Given the description of an element on the screen output the (x, y) to click on. 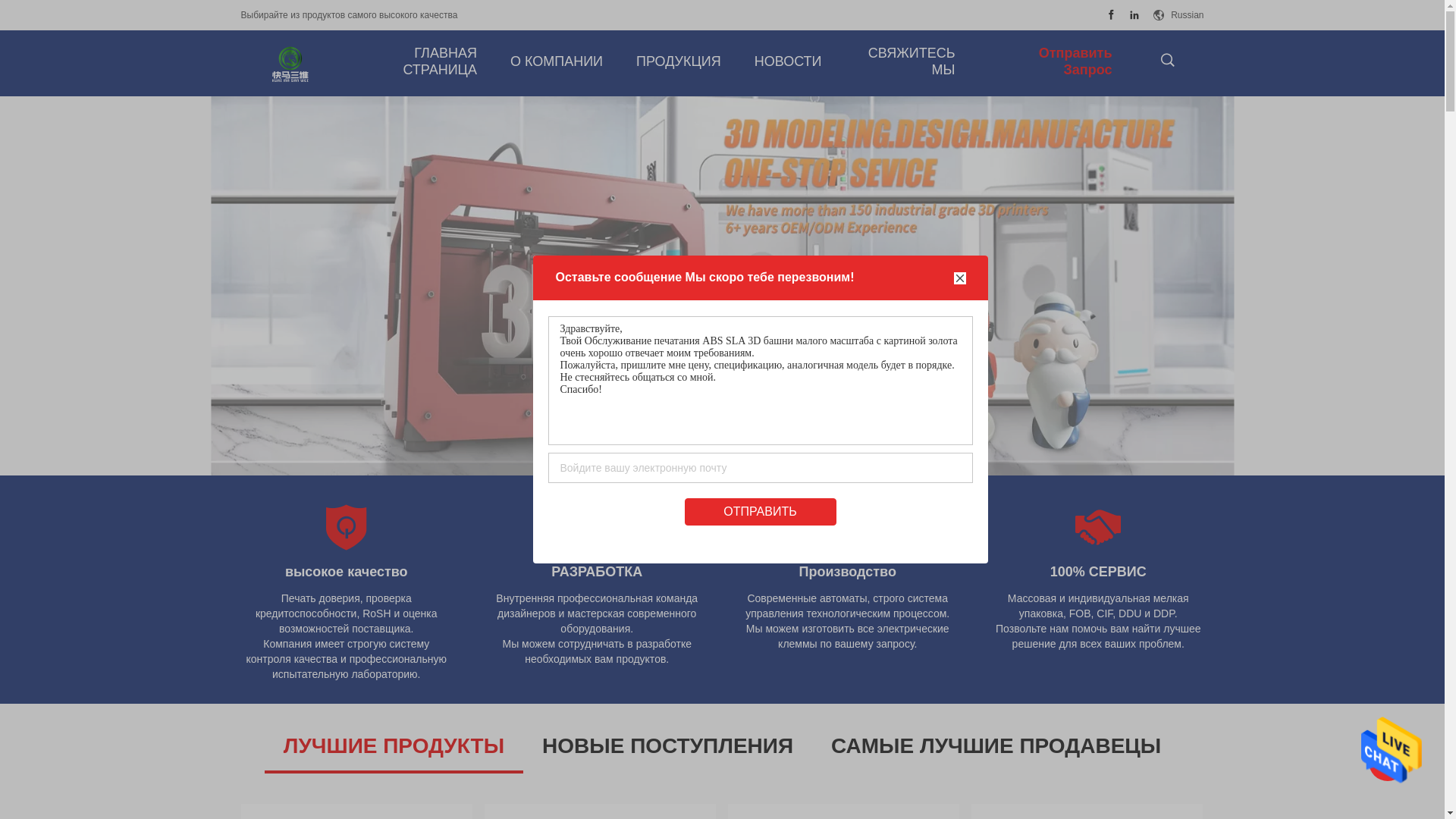
Guangdong Kuaima Sanwei Technology Co., Ltd. Facebook Element type: hover (1111, 15)
Guangdong Kuaima Sanwei Technology Co., Ltd. Element type: hover (290, 63)
Guangdong Kuaima Sanwei Technology Co., Ltd. LinkedIn Element type: hover (1134, 15)
